Given the description of an element on the screen output the (x, y) to click on. 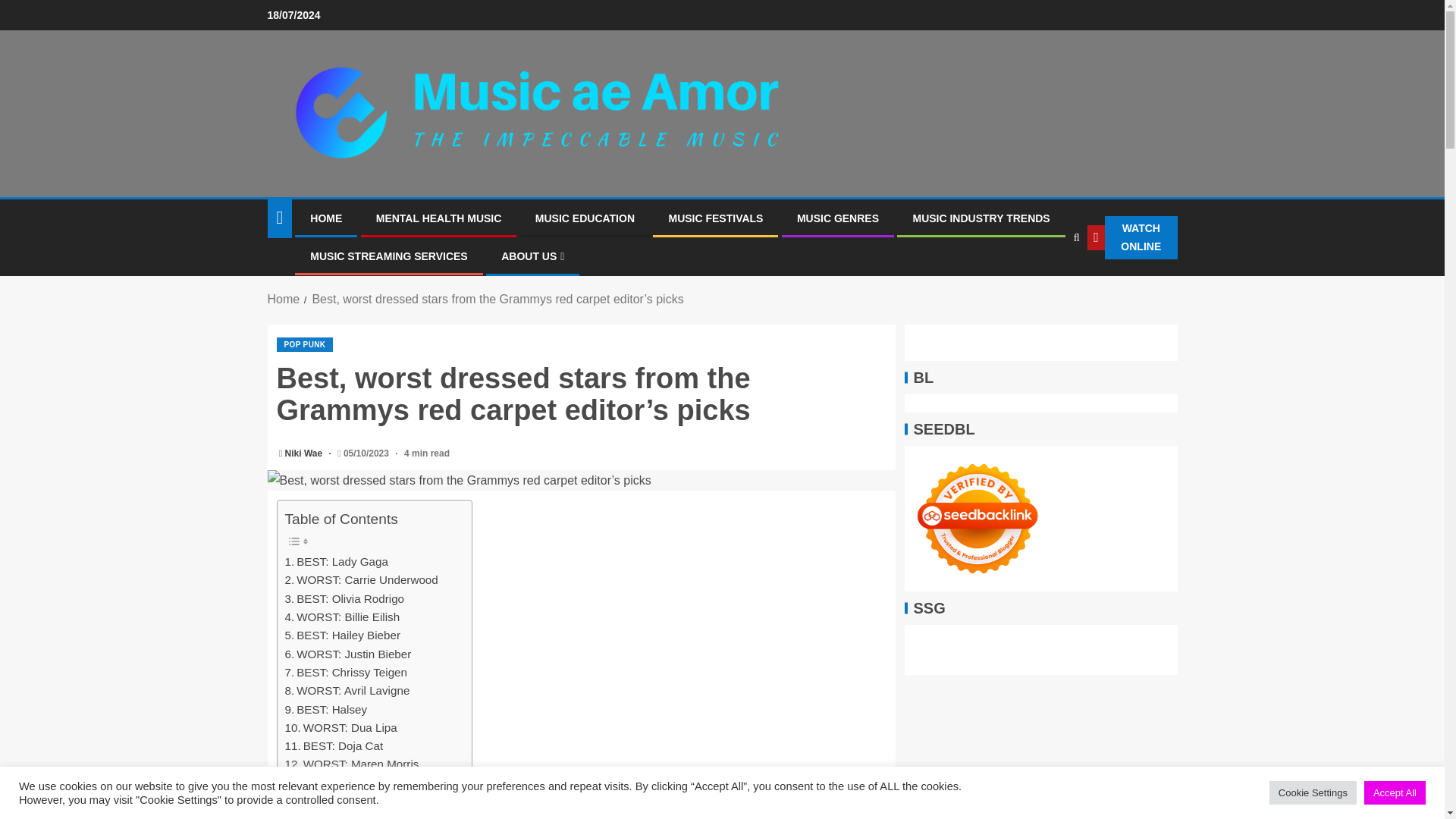
MUSIC STREAMING SERVICES (388, 256)
WORST: Carrie Underwood (361, 579)
WORST: Megan Thee Stallion (371, 801)
POP PUNK (304, 344)
BEST: Hailey Bieber (342, 635)
BEST: Laverne Cox (344, 782)
BEST: Laverne Cox (344, 782)
WORST: Maren Morris (352, 764)
BEST: Chrissy Teigen (346, 672)
BEST: Olivia Rodrigo (344, 598)
WORST: Dua Lipa (341, 728)
ABOUT US (532, 256)
WORST: Avril Lavigne (347, 690)
WORST: Maren Morris (352, 764)
BEST: Chrissy Teigen (346, 672)
